Given the description of an element on the screen output the (x, y) to click on. 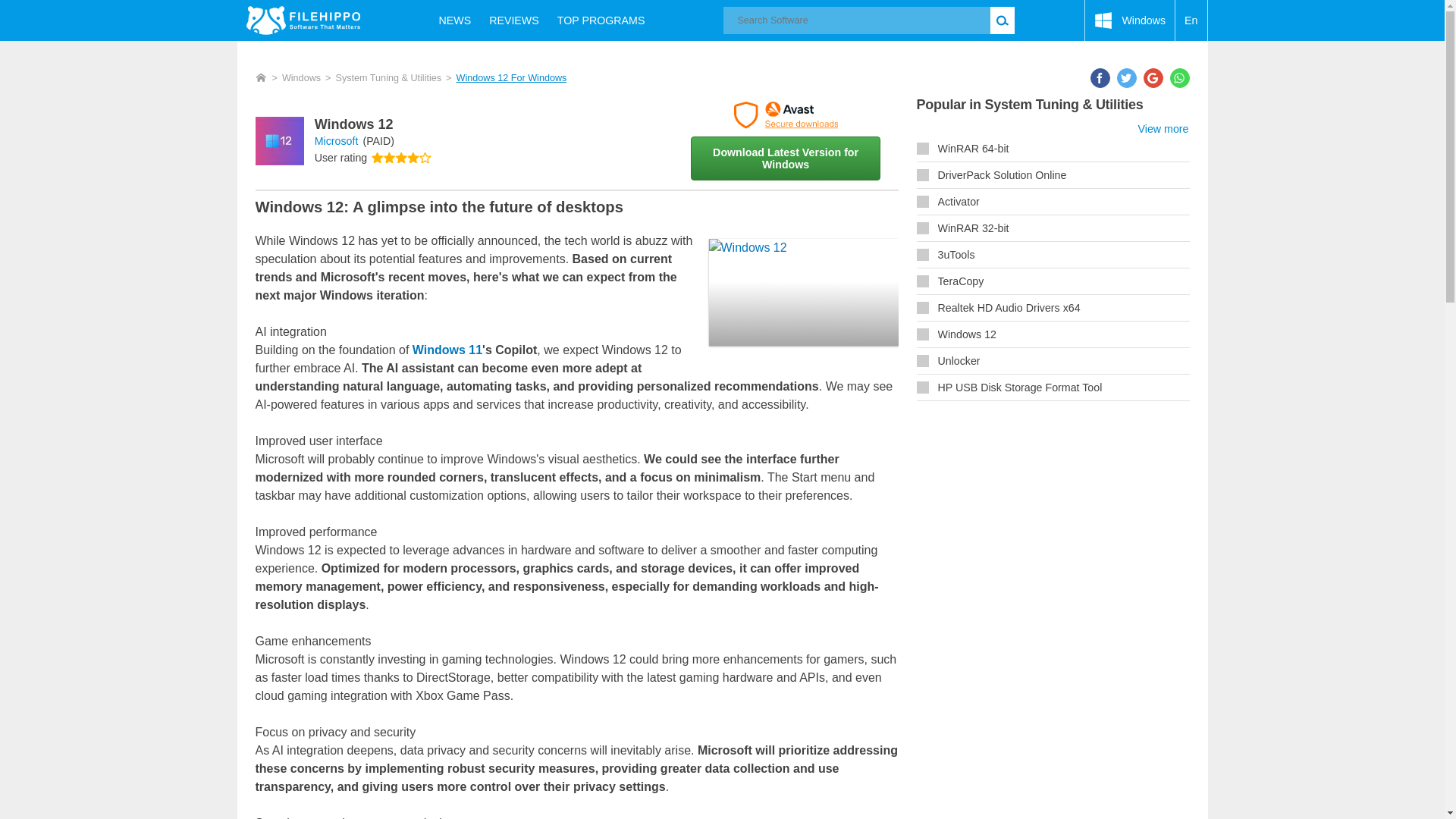
Top Programs (600, 20)
Windows (1129, 20)
TOP PROGRAMS (600, 20)
Windows (301, 77)
NEWS (454, 20)
Filehippo (302, 20)
News (454, 20)
Reviews (514, 20)
Windows (1129, 20)
Microsoft (336, 141)
